Given the description of an element on the screen output the (x, y) to click on. 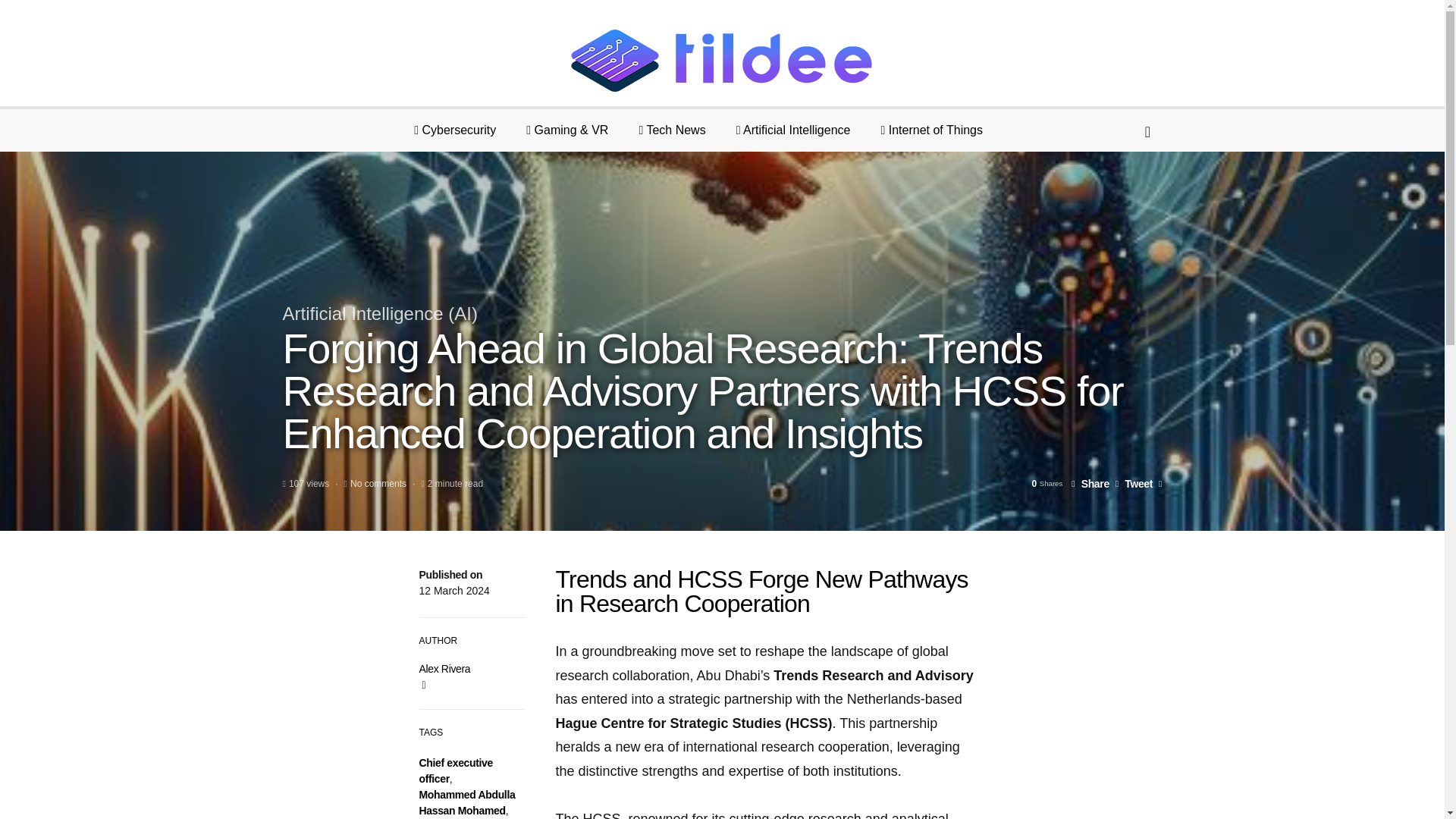
Tweet (1134, 483)
Mohammed Abdulla Hassan Mohamed (467, 802)
Alex Rivera (444, 668)
Chief executive officer (455, 770)
Share (1090, 483)
No comments (378, 483)
